Given the description of an element on the screen output the (x, y) to click on. 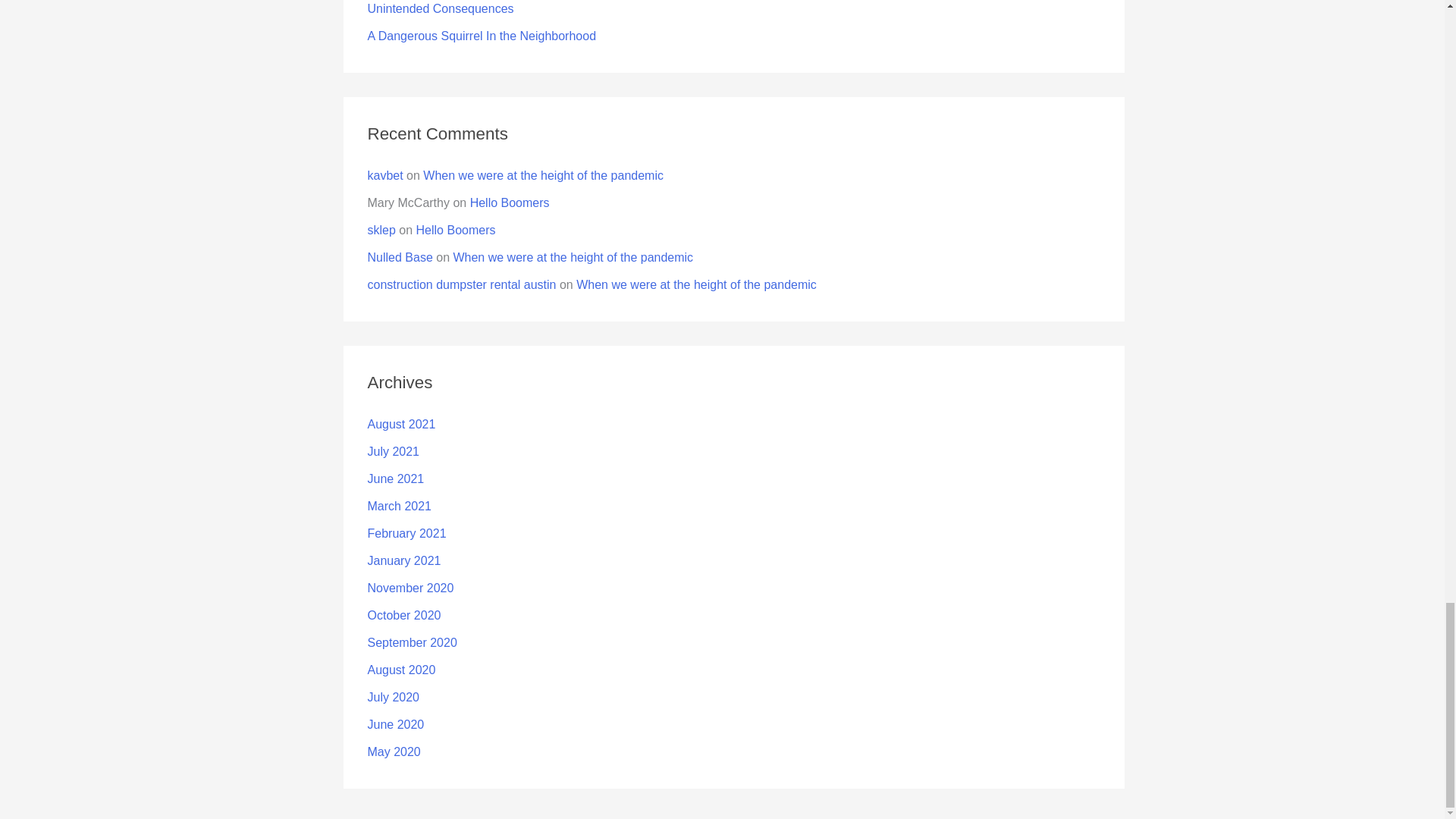
July 2020 (392, 697)
construction dumpster rental austin (461, 284)
kavbet (384, 174)
August 2020 (400, 669)
Hello Boomers (510, 202)
June 2021 (394, 478)
July 2021 (392, 451)
October 2020 (403, 615)
Hello Boomers (456, 229)
February 2021 (405, 533)
A Dangerous Squirrel In the Neighborhood (480, 35)
June 2020 (394, 724)
August 2021 (400, 423)
Nulled Base (399, 256)
March 2021 (398, 505)
